Given the description of an element on the screen output the (x, y) to click on. 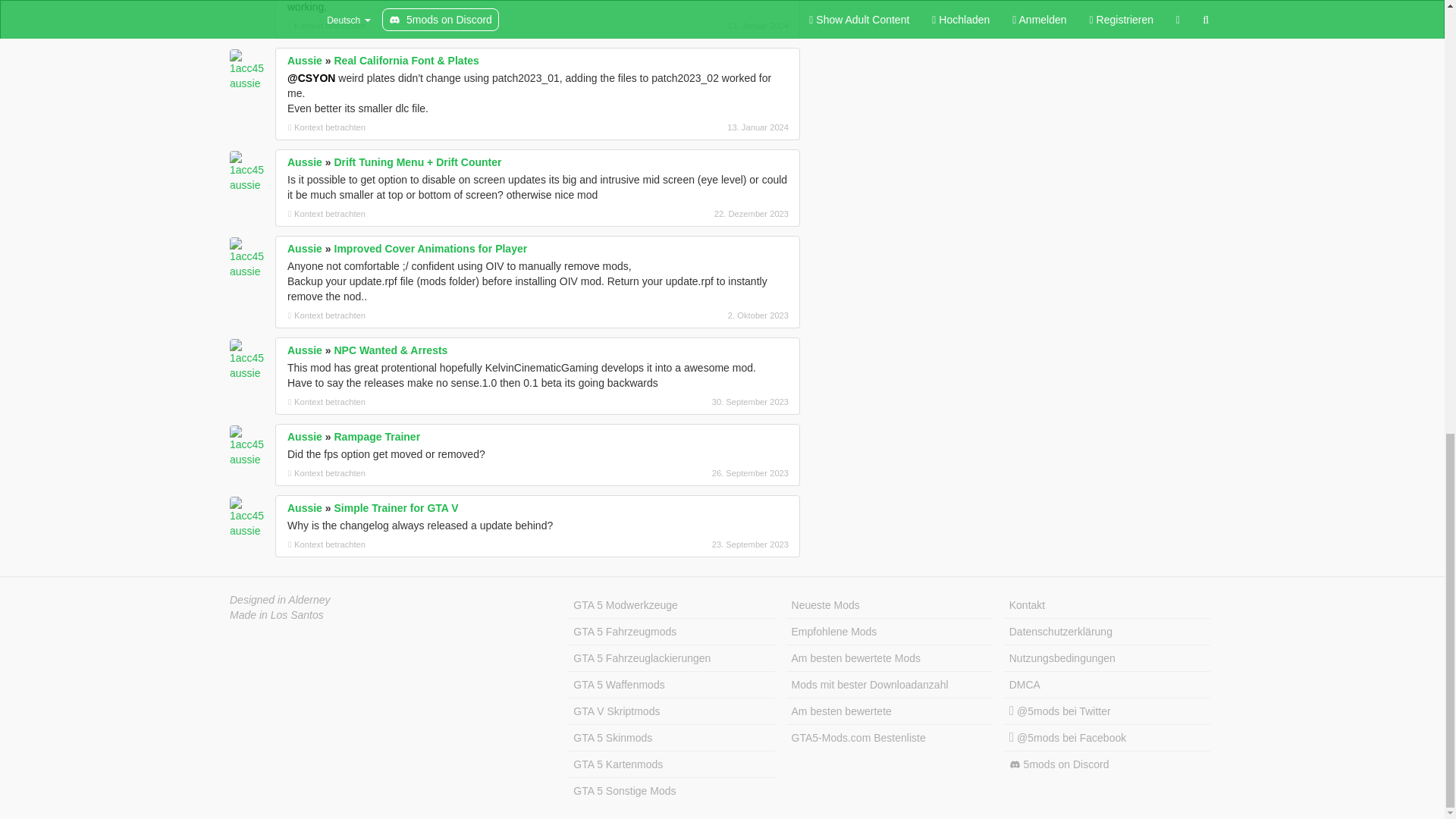
Montag, 02. Oktober 2023, 05:49 Uhr (708, 315)
Dienstag, 26. September 2023, 03:02 Uhr (708, 472)
5mods on Discord (1106, 764)
Samstag, 30. September 2023, 16:56 Uhr (708, 401)
Freitag, 22. Dezember 2023, 09:13 Uhr (708, 213)
Samstag, 23. September 2023, 18:00 Uhr (708, 544)
Samstag, 13. Januar 2024, 09:22 Uhr (708, 25)
Samstag, 13. Januar 2024, 04:59 Uhr (708, 127)
